Given the description of an element on the screen output the (x, y) to click on. 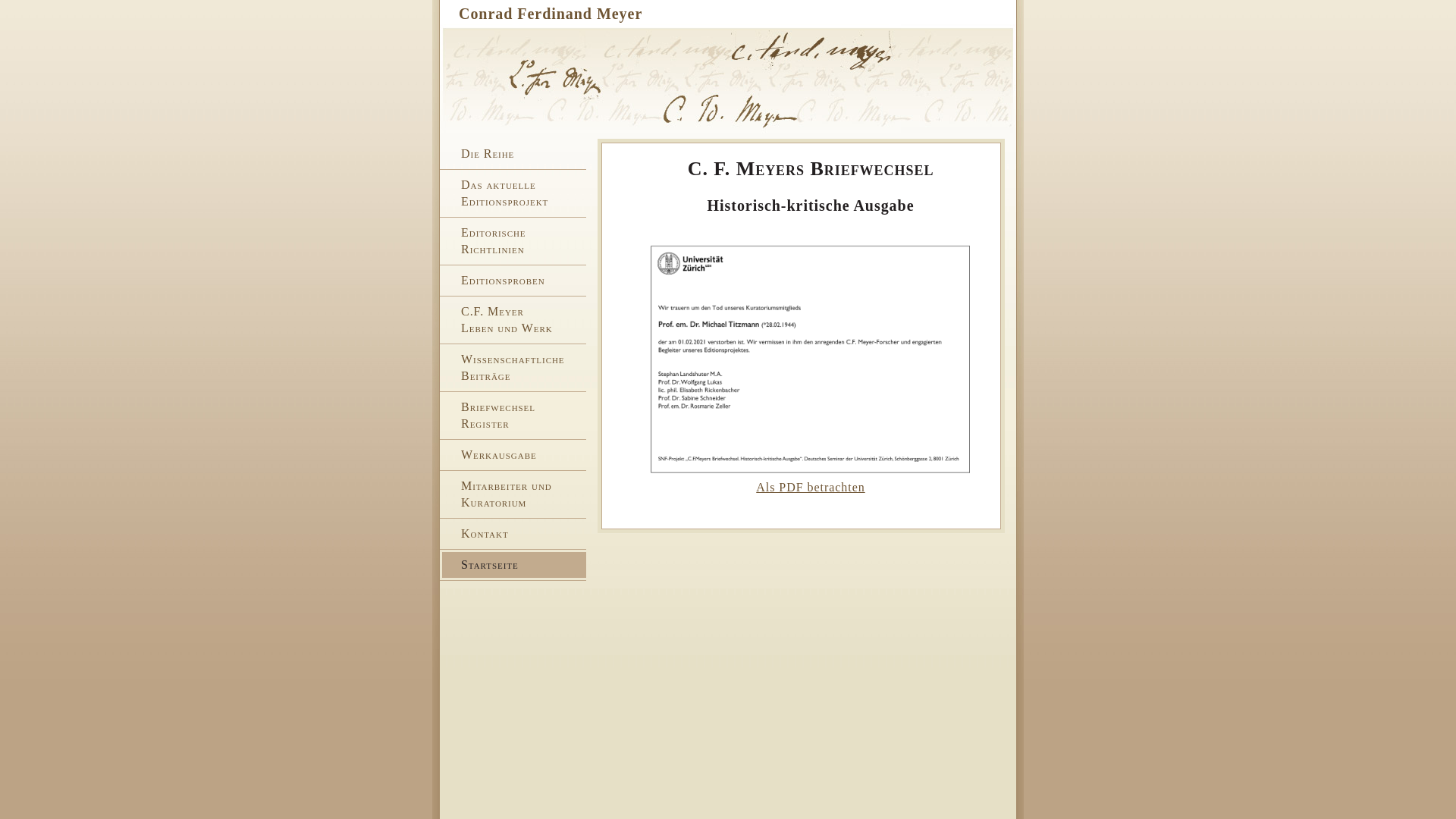
Conrad Ferdinand Meyer Element type: text (550, 13)
Editorische
Richtlinien Element type: text (514, 240)
Kontakt Element type: text (514, 533)
Werkausgabe Element type: text (514, 454)
C.F. Meyer
Leben und Werk Element type: text (514, 319)
Briefwechsel Register Element type: text (514, 415)
Editionsproben Element type: text (514, 280)
Das aktuelle Editionsprojekt Element type: text (514, 193)
Die Reihe Element type: text (514, 153)
Mitarbeiter und Kuratorium Element type: text (514, 494)
Startseite Element type: text (514, 564)
Als PDF betrachten Element type: text (810, 486)
